Given the description of an element on the screen output the (x, y) to click on. 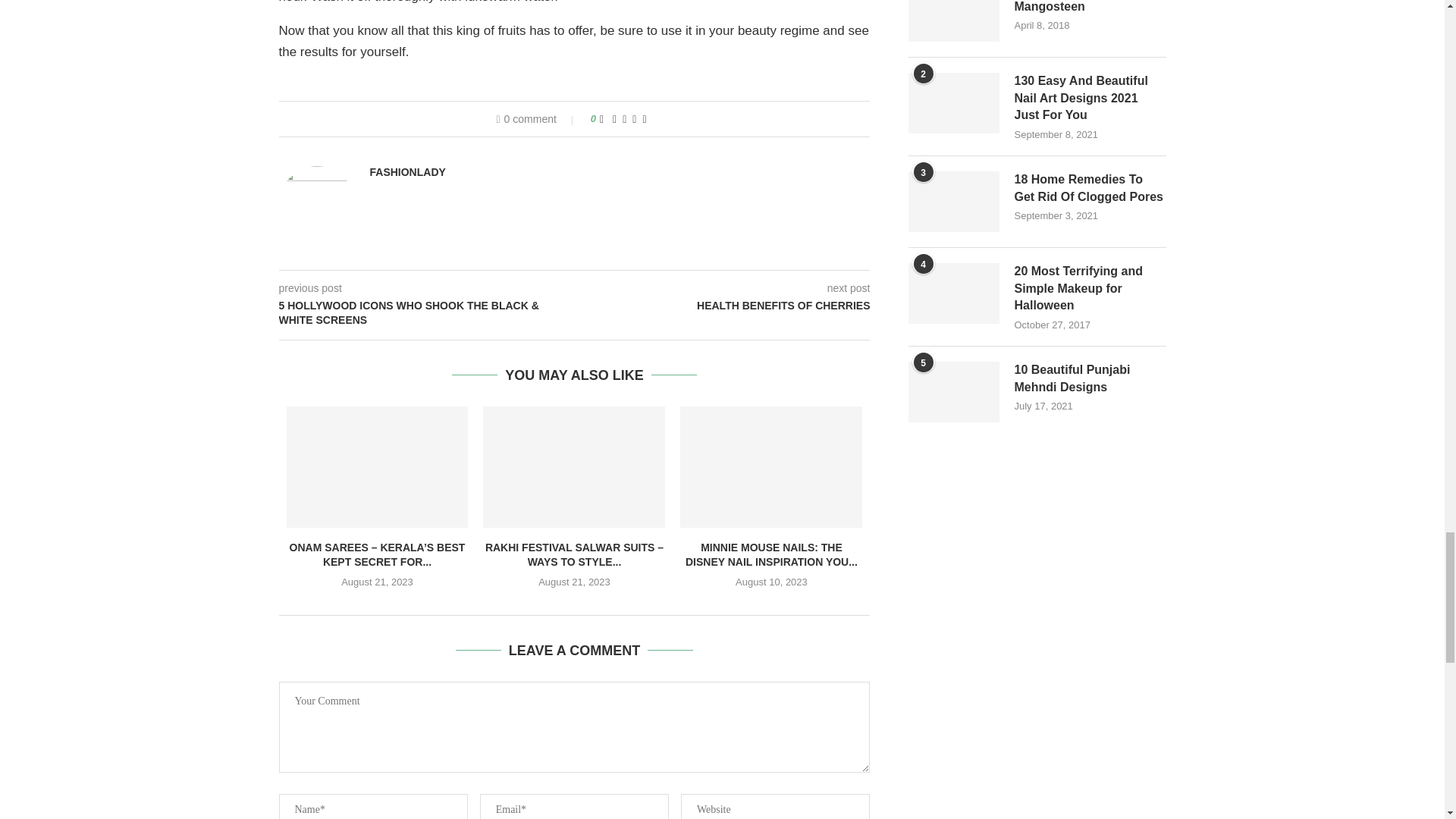
Author Fashionlady (407, 172)
